Given the description of an element on the screen output the (x, y) to click on. 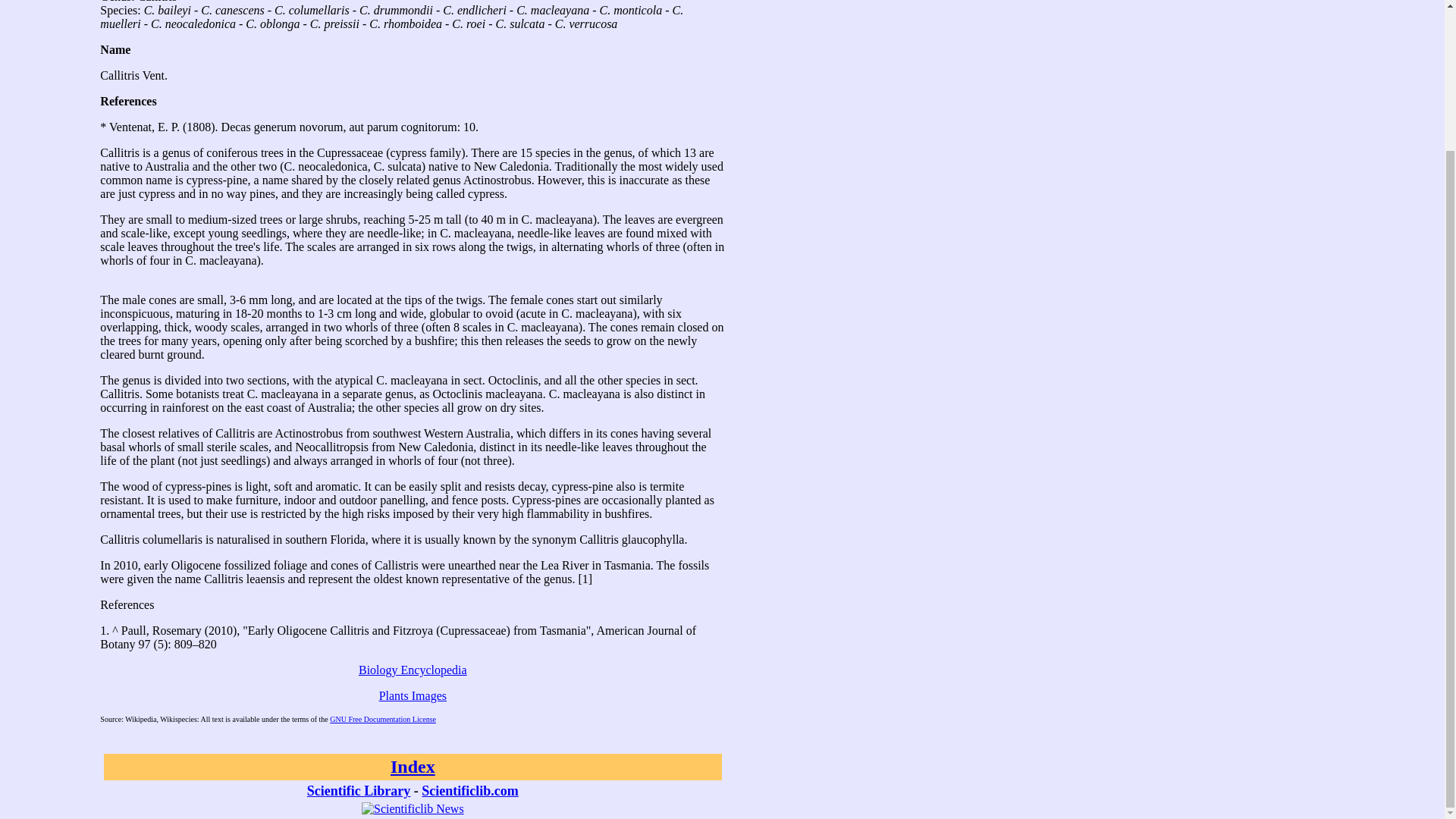
GNU Free Documentation License (382, 718)
Scientificlib.com (470, 790)
Biology Encyclopedia (412, 669)
Index (412, 766)
Plants Images (412, 695)
Scientific Library (358, 790)
